Given the description of an element on the screen output the (x, y) to click on. 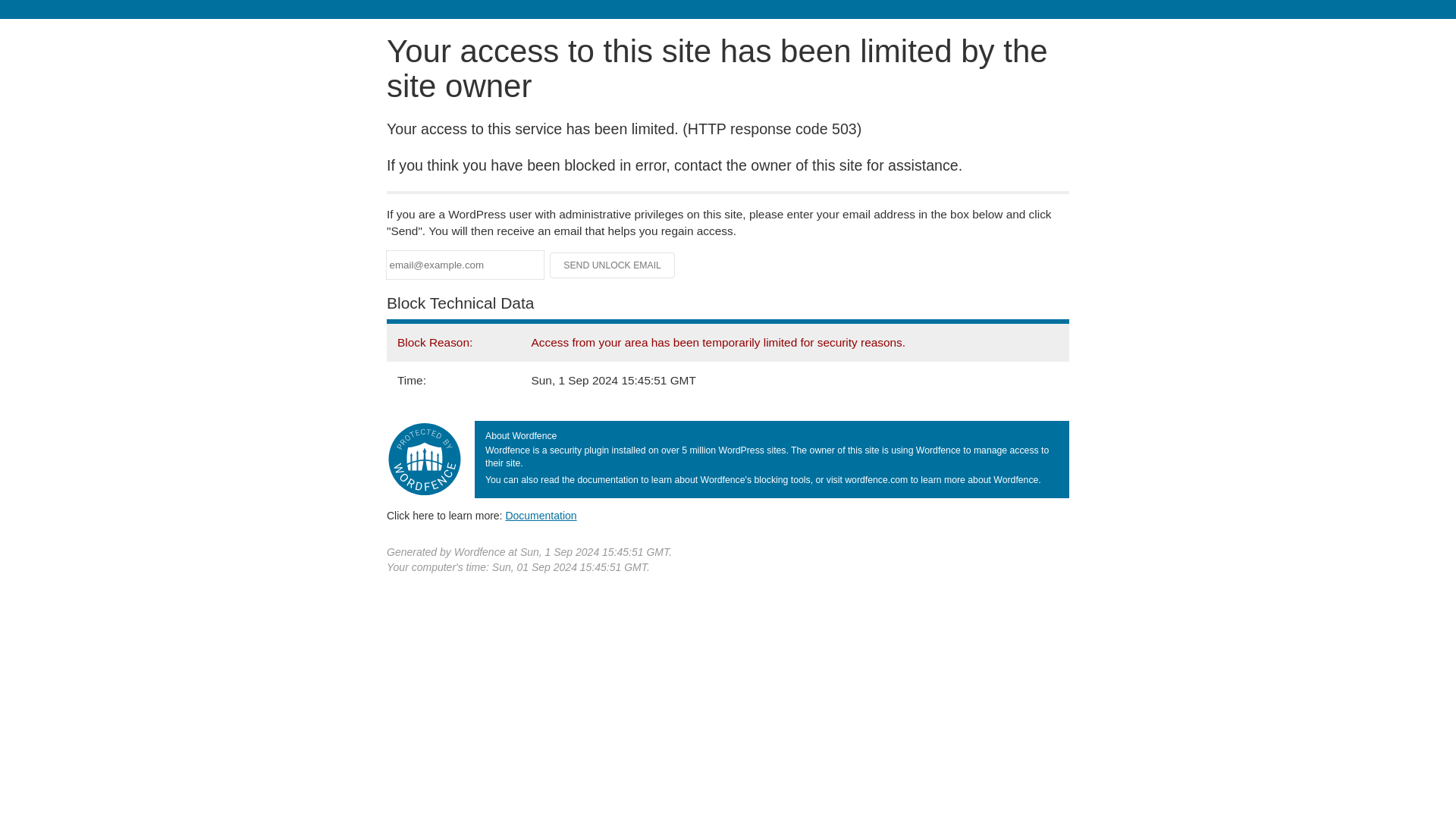
Send Unlock Email (612, 265)
Send Unlock Email (612, 265)
Documentation (540, 515)
